Given the description of an element on the screen output the (x, y) to click on. 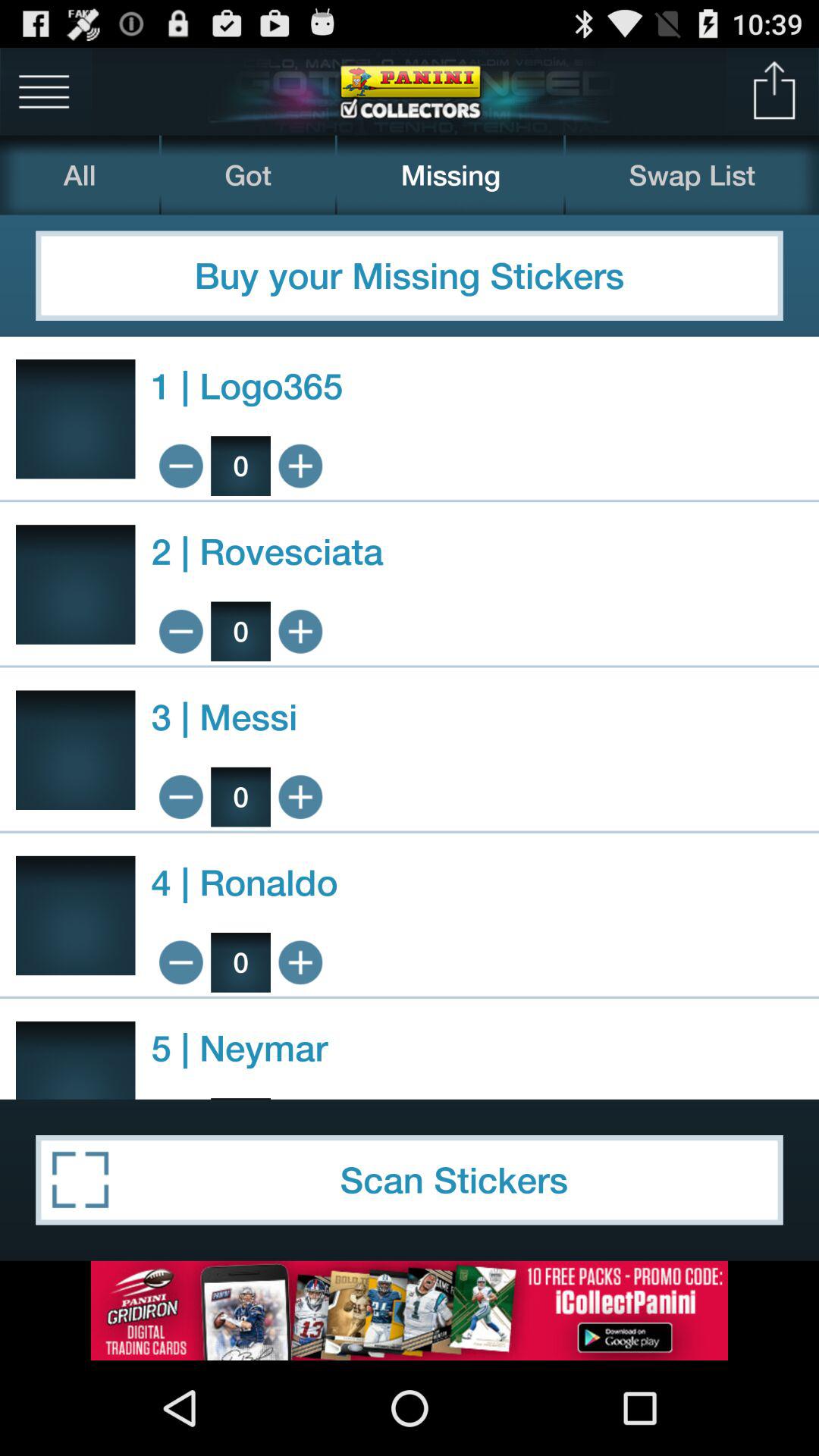
less (181, 796)
